Given the description of an element on the screen output the (x, y) to click on. 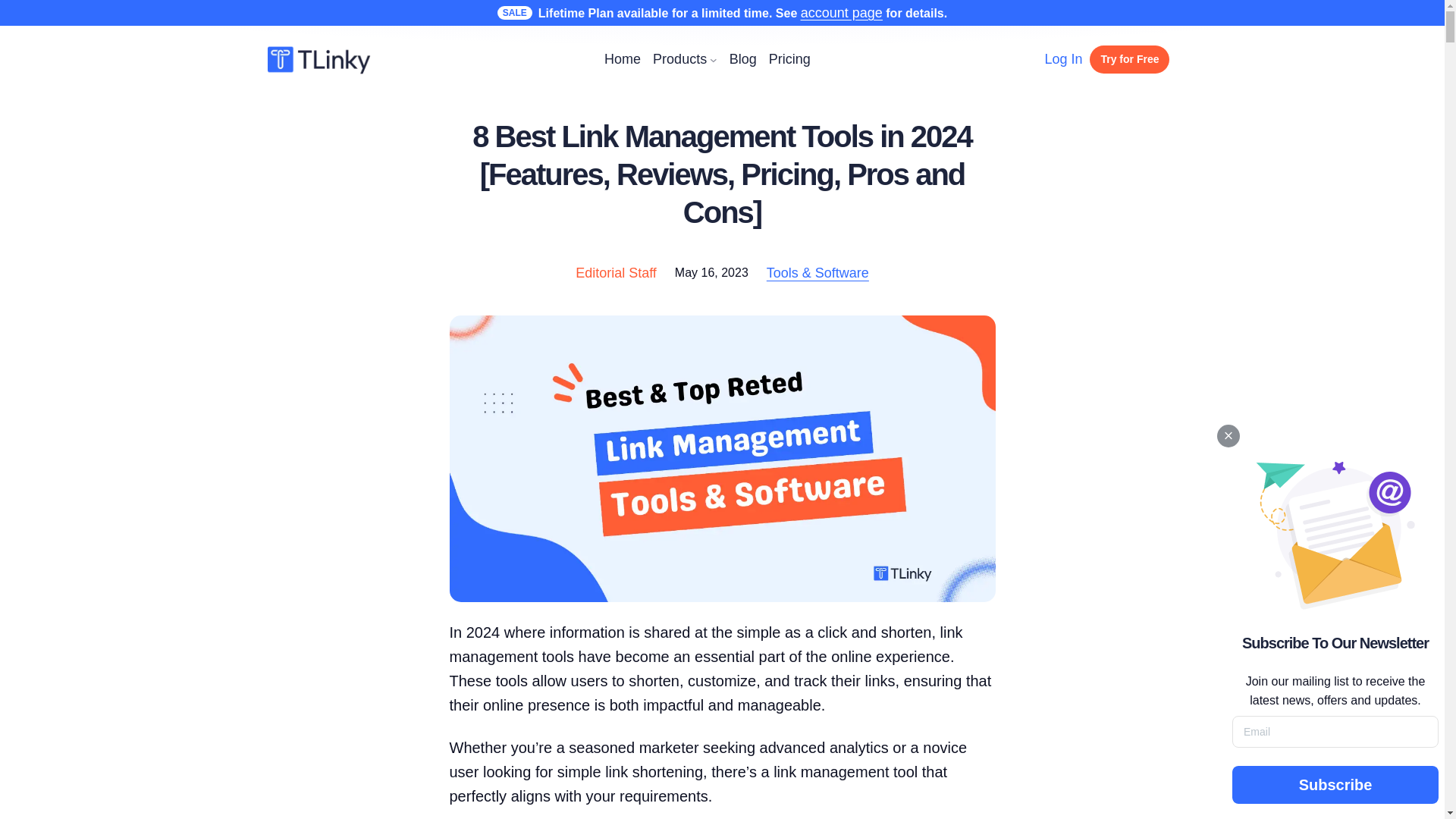
Try for Free (1129, 59)
Blog (743, 59)
Products (679, 59)
Pricing (789, 59)
Home (622, 59)
account page (841, 12)
Log In (1062, 58)
